Given the description of an element on the screen output the (x, y) to click on. 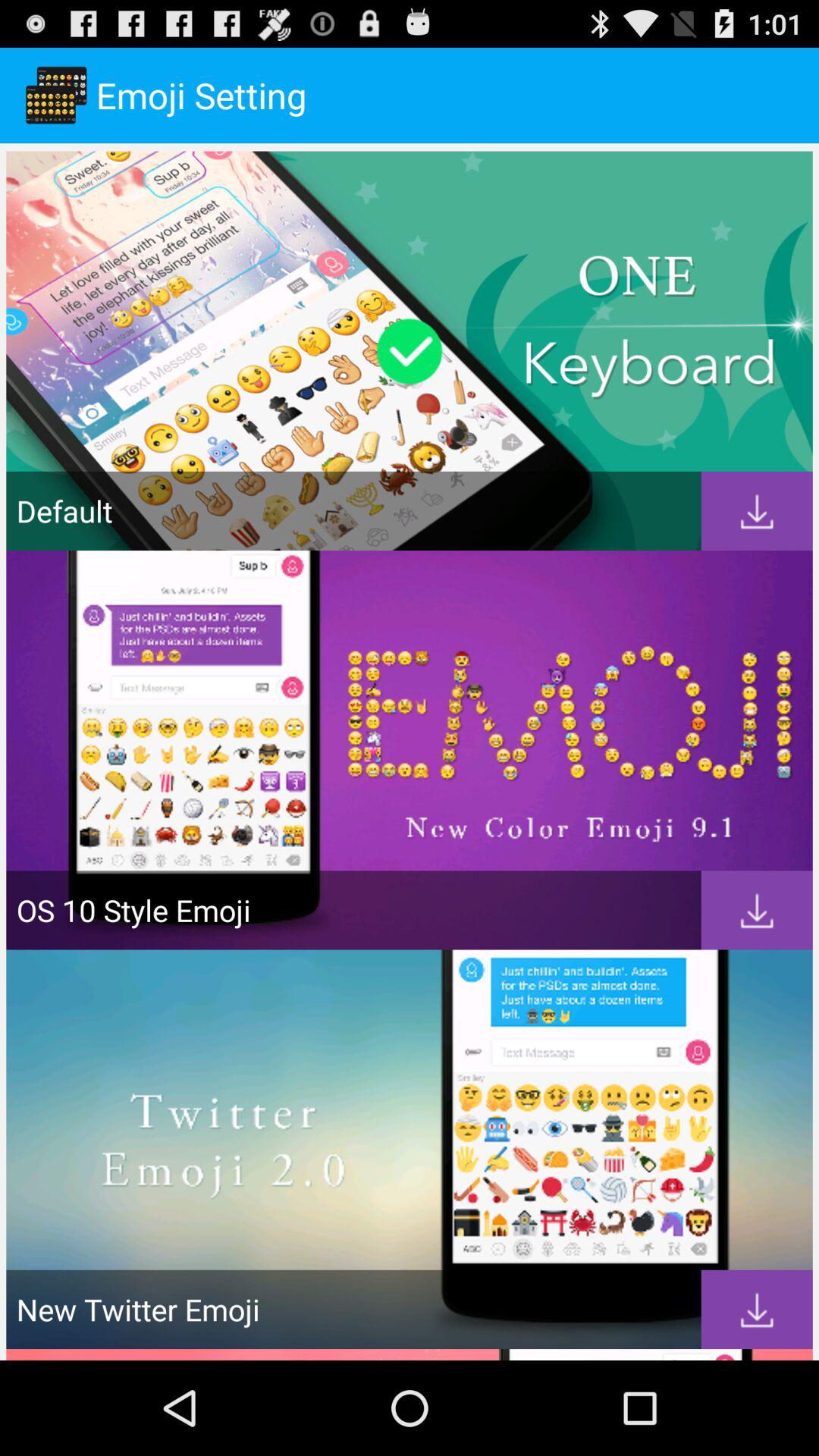
download button (756, 1309)
